Given the description of an element on the screen output the (x, y) to click on. 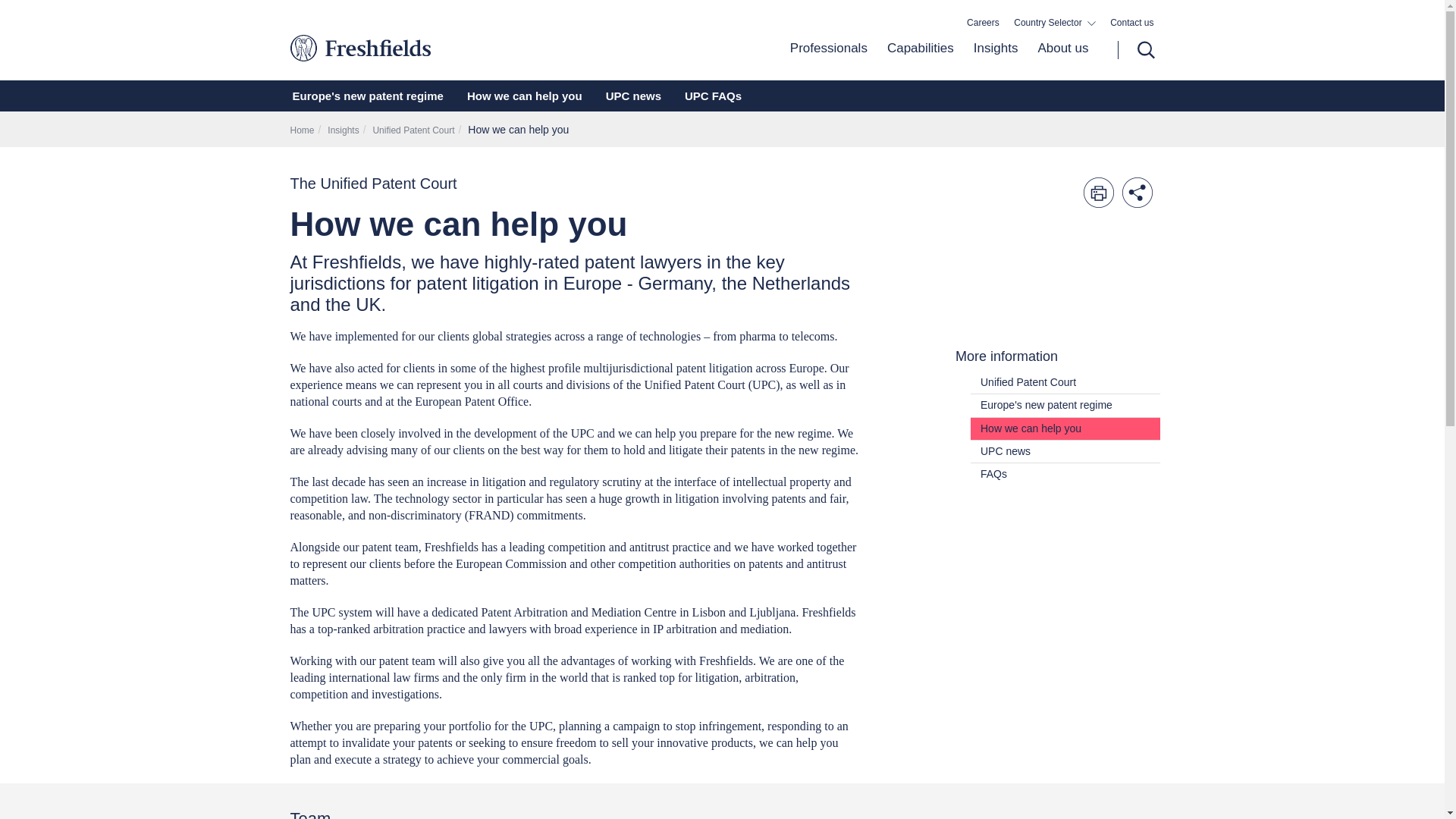
Careers (982, 22)
Insights (995, 59)
Country Selector (1053, 22)
Search (1136, 49)
Contact us (1131, 22)
Professionals (828, 59)
Capabilities (920, 59)
Careers (982, 22)
About us (1057, 59)
Freshfields Bruckhaus Deringer (423, 46)
